Given the description of an element on the screen output the (x, y) to click on. 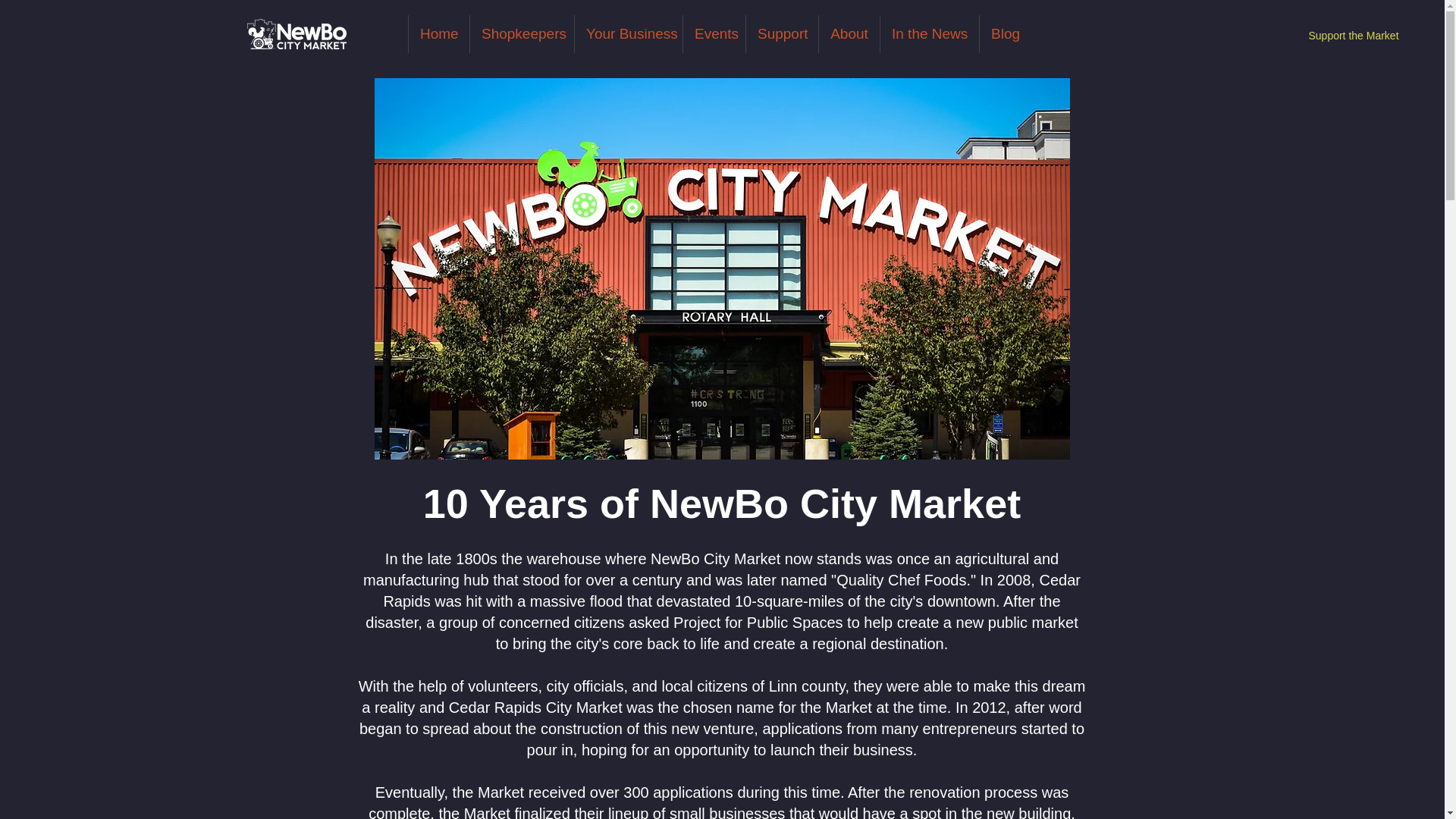
Home (437, 34)
Shopkeepers (520, 34)
Your Business (627, 34)
Support the Market (1353, 35)
thumbnail.png (296, 33)
Events (713, 34)
Support (781, 34)
Blog (1004, 34)
In the News (928, 34)
About (848, 34)
